Given the description of an element on the screen output the (x, y) to click on. 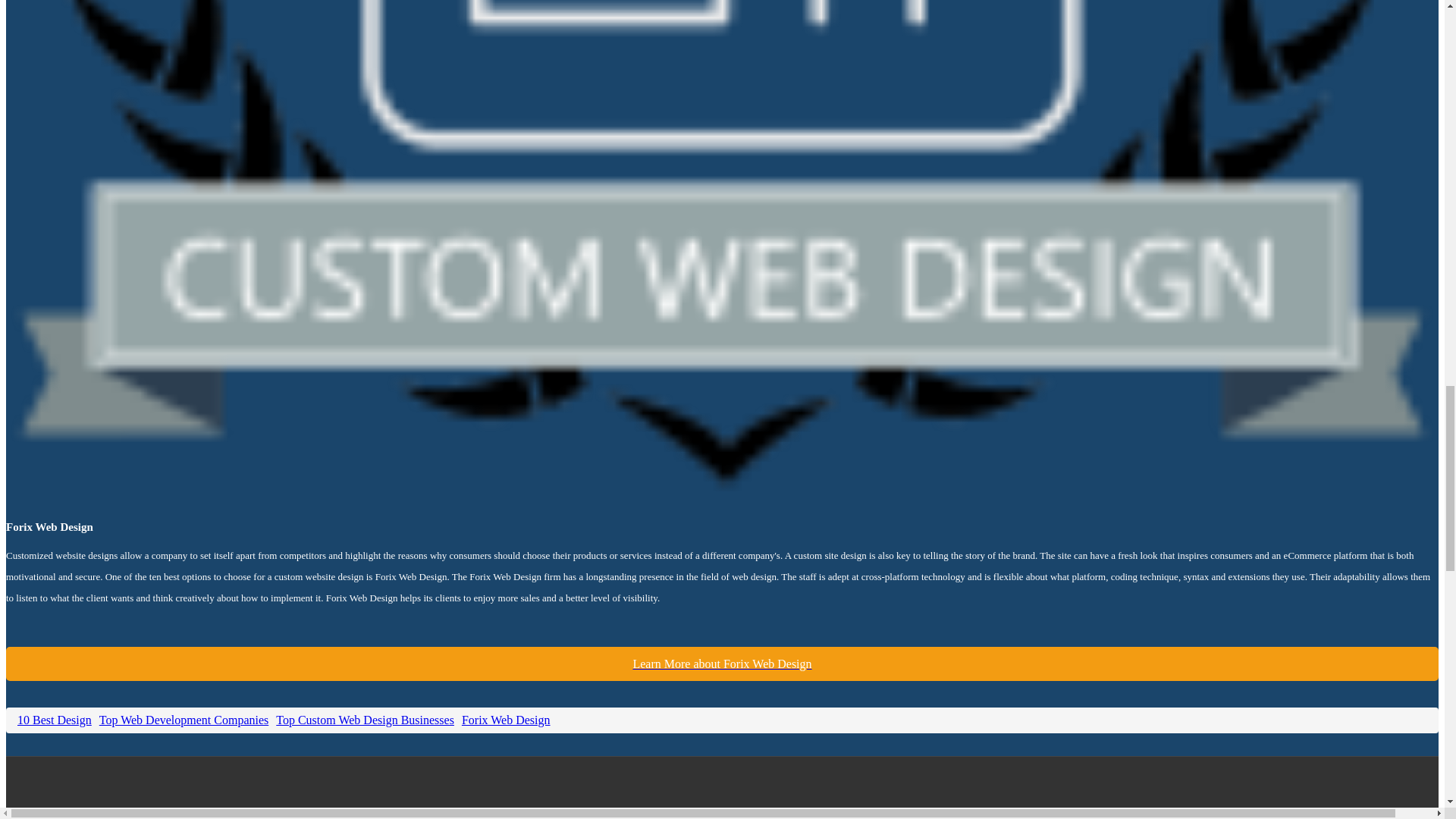
Forix Web Design (721, 663)
